Given the description of an element on the screen output the (x, y) to click on. 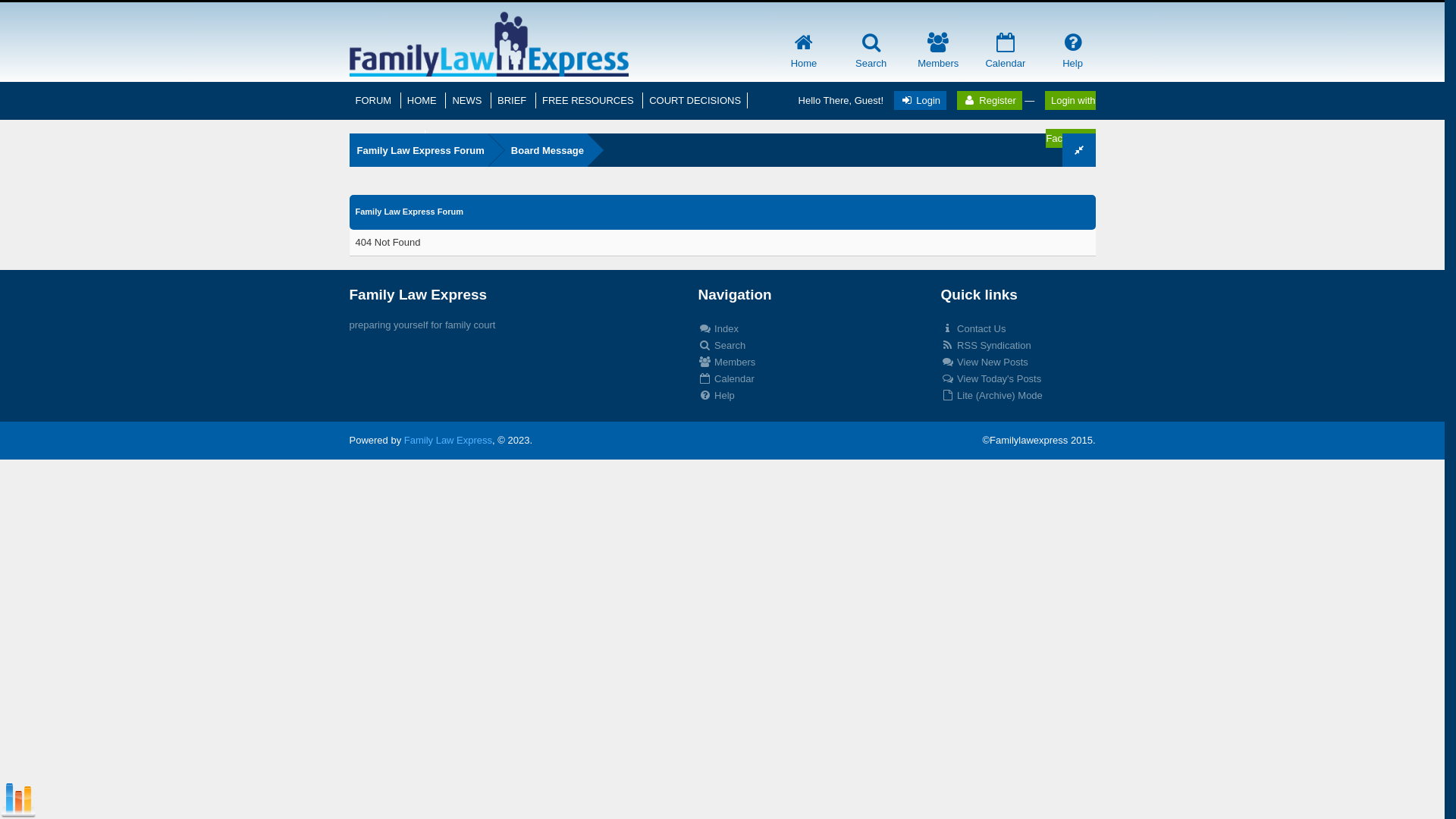
RSS Syndication Element type: text (985, 345)
HOME Element type: text (423, 100)
Home Element type: text (803, 54)
Family Law Express Element type: text (448, 439)
Help Element type: text (715, 395)
Members Element type: text (937, 54)
Board Message Element type: text (537, 150)
Login Element type: text (920, 100)
BRIEF Element type: text (513, 100)
Login with Facebook Element type: text (1069, 119)
Search Element type: text (870, 54)
Family Law Express Forum Element type: text (417, 150)
COURT DECISIONS Element type: text (694, 100)
FREE RESOURCES Element type: text (589, 100)
CONTACT US Element type: text (385, 138)
Search Element type: text (721, 345)
View Today's Posts Element type: text (990, 378)
Index Element type: text (717, 328)
Help Element type: text (1072, 54)
Lite (Archive) Mode Element type: text (990, 395)
NEWS Element type: text (467, 100)
Register Element type: text (989, 100)
View New Posts Element type: text (983, 361)
Contact Us Element type: text (972, 328)
FORUM Element type: text (373, 100)
Calendar Element type: text (1005, 54)
Members Element type: text (726, 361)
Calendar Element type: text (725, 378)
